Given the description of an element on the screen output the (x, y) to click on. 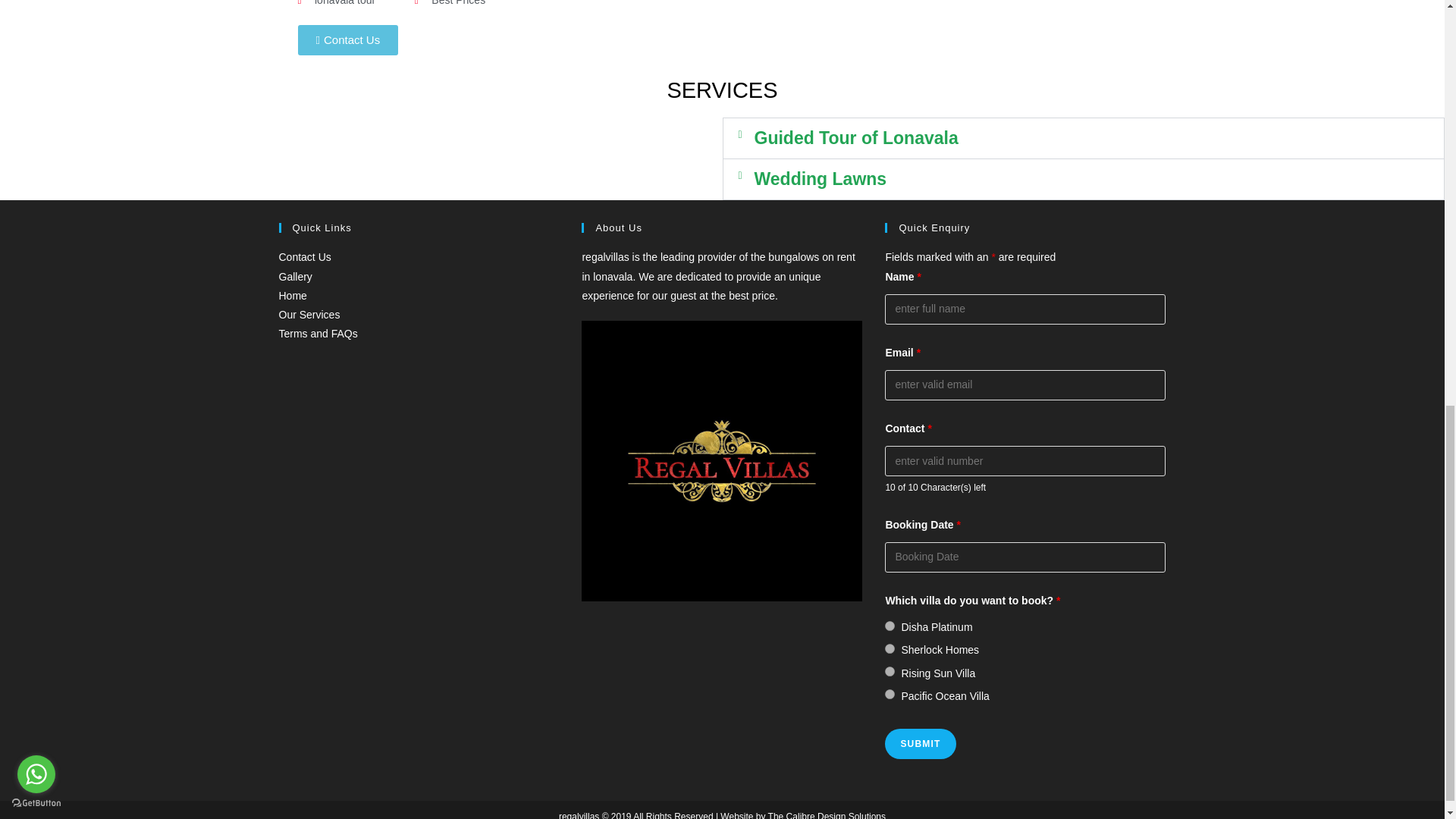
Submit (920, 743)
Contact Us (347, 40)
Contact Us (305, 256)
Sherlock Homes (890, 648)
Pacific Ocean Villa (890, 694)
Disha Platinum (890, 625)
Submit (920, 743)
Gallery (296, 276)
Our Services (309, 314)
Terms and FAQs (318, 333)
Rising Sun Villa (890, 671)
Wedding Lawns (820, 178)
Home (293, 295)
Guided Tour of Lonavala (856, 137)
The Calibre Design Solutions (826, 815)
